Given the description of an element on the screen output the (x, y) to click on. 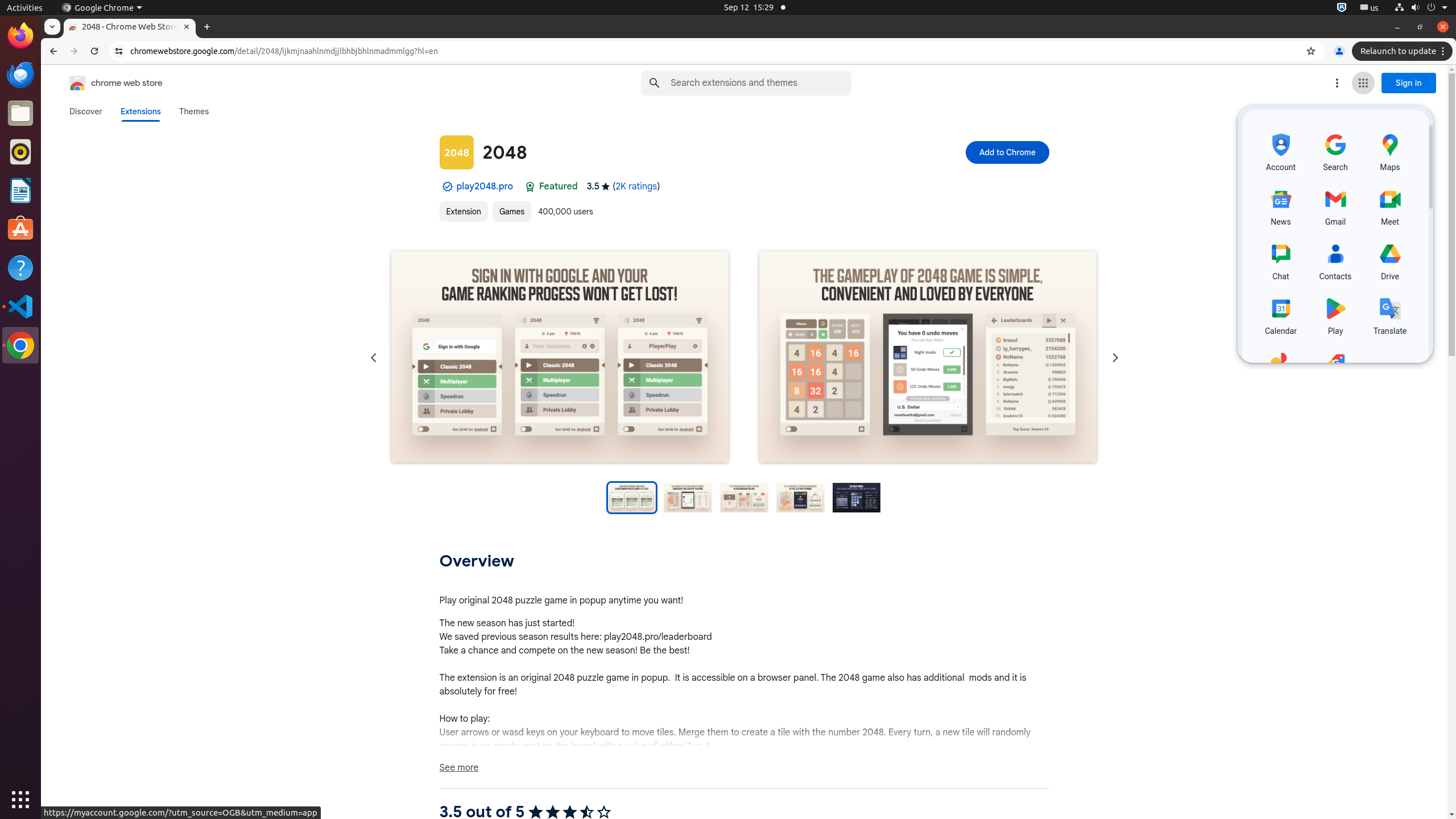
Extensions Element type: page-tab (140, 111)
Visual Studio Code Element type: push-button (20, 306)
Files Element type: push-button (20, 113)
Add to Chrome Element type: push-button (1007, 152)
Discover Element type: page-tab (85, 111)
